Given the description of an element on the screen output the (x, y) to click on. 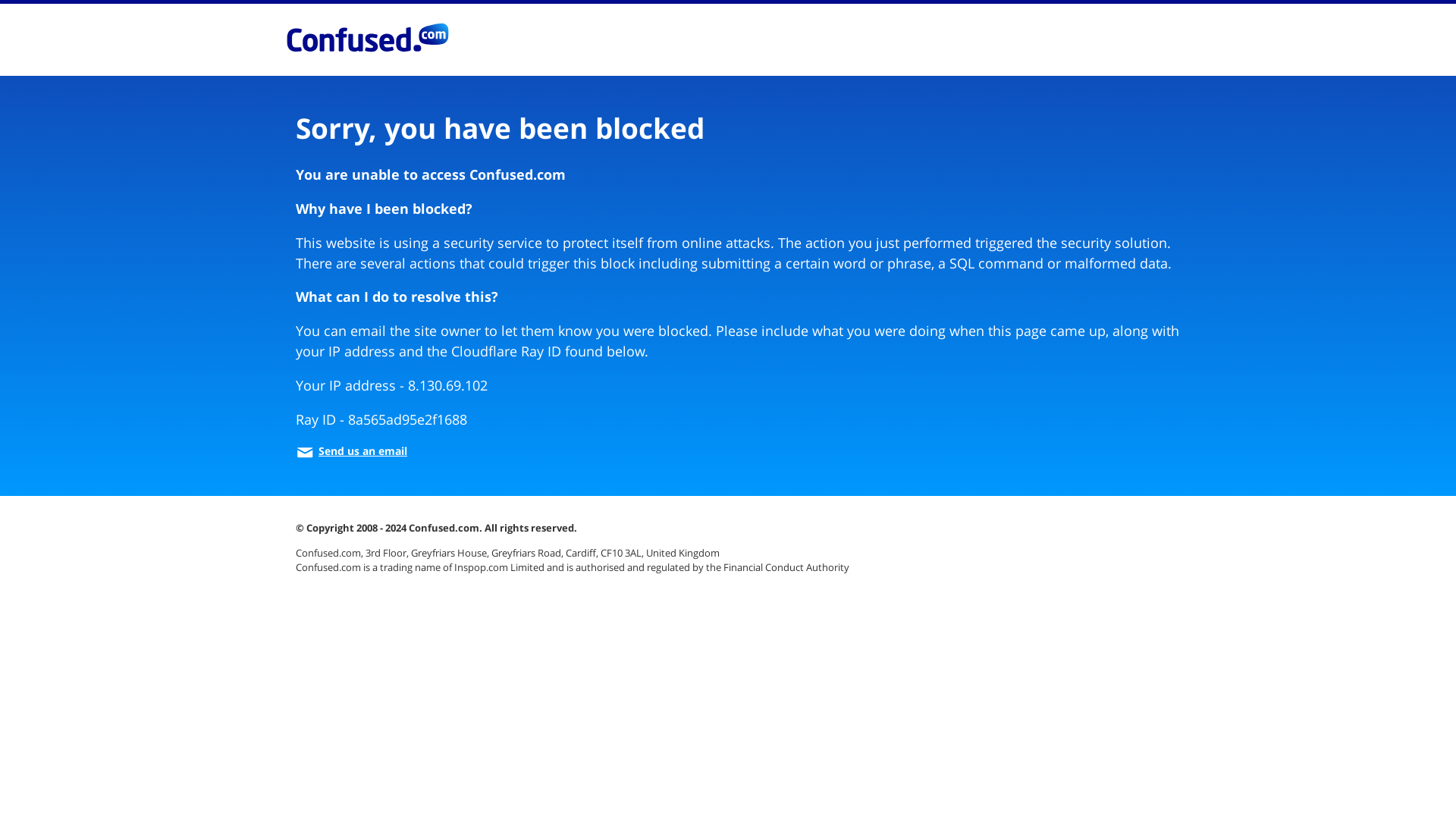
Send us an email (351, 450)
